Given the description of an element on the screen output the (x, y) to click on. 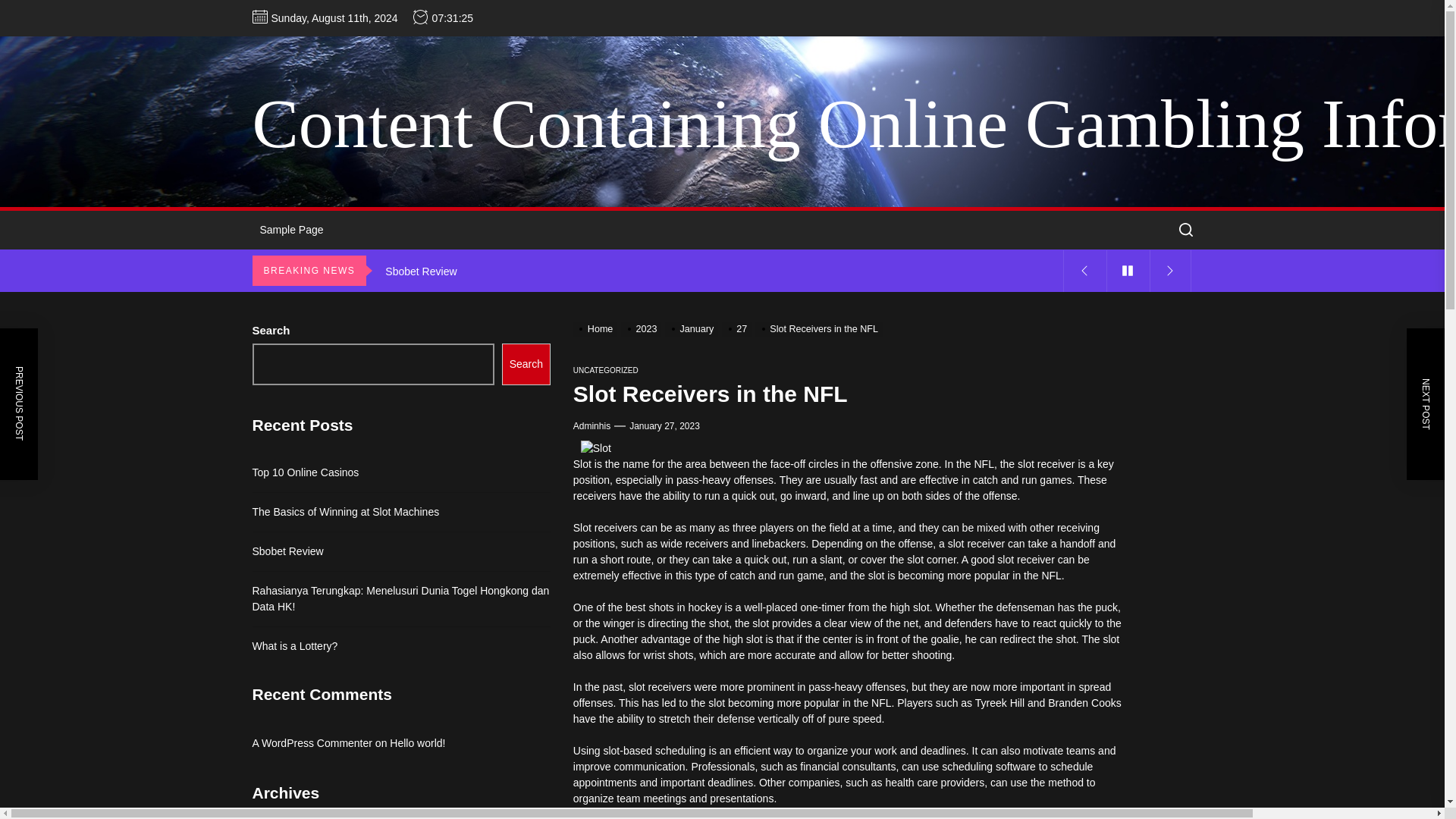
UNCATEGORIZED (606, 369)
Home (597, 328)
Slot Receivers in the NFL (820, 328)
Adminhis (591, 425)
2023 (643, 328)
27 (738, 328)
January (693, 328)
Sbobet Review (720, 271)
The Basics of Winning at Slot Machines (720, 229)
January 27, 2023 (664, 425)
